Given the description of an element on the screen output the (x, y) to click on. 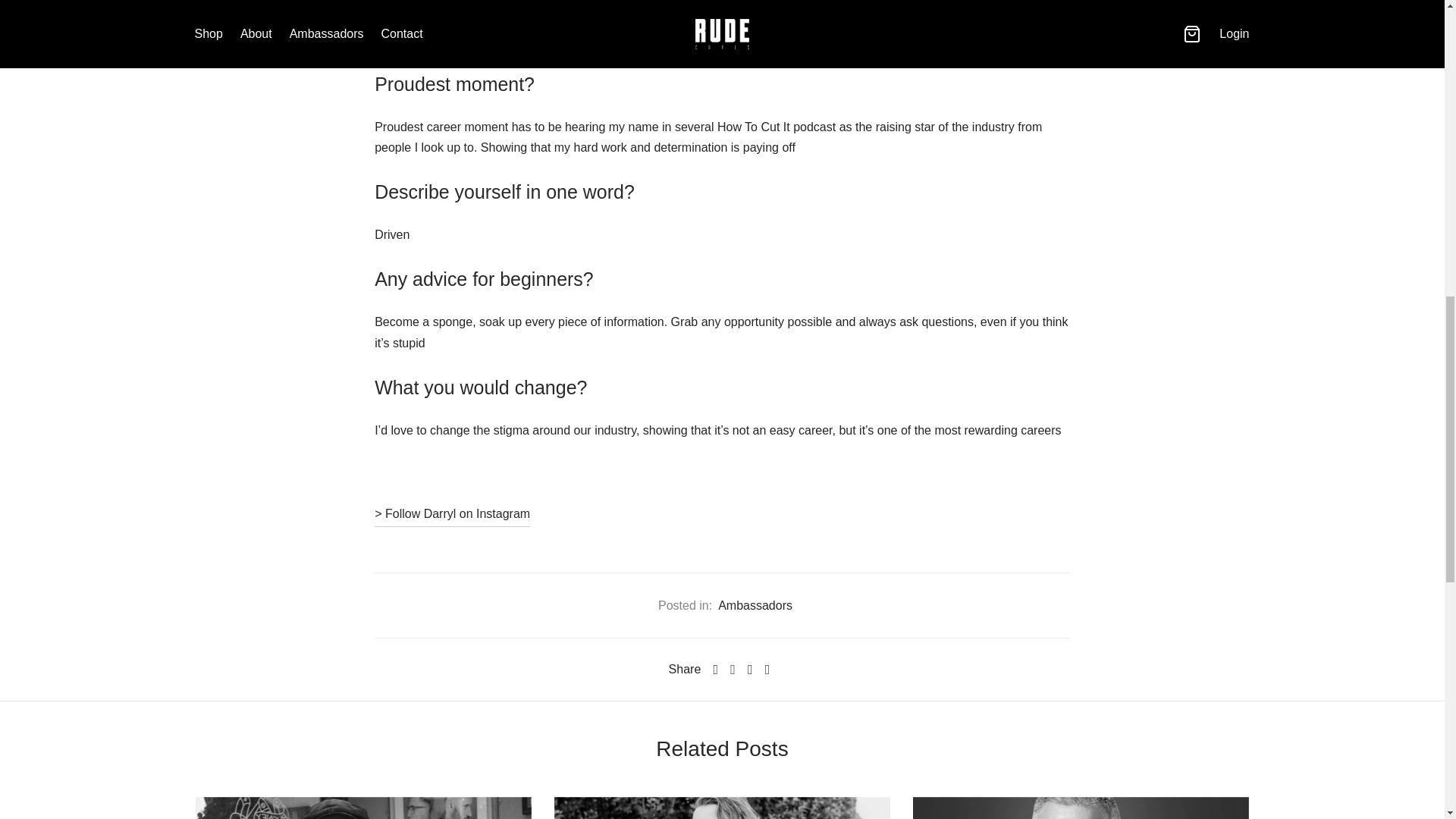
Scroll To Top (1413, 18)
Ambassadors (754, 605)
Simon Tuckwell (721, 807)
Alex Burt (1080, 807)
Jen Winters (363, 807)
